Given the description of an element on the screen output the (x, y) to click on. 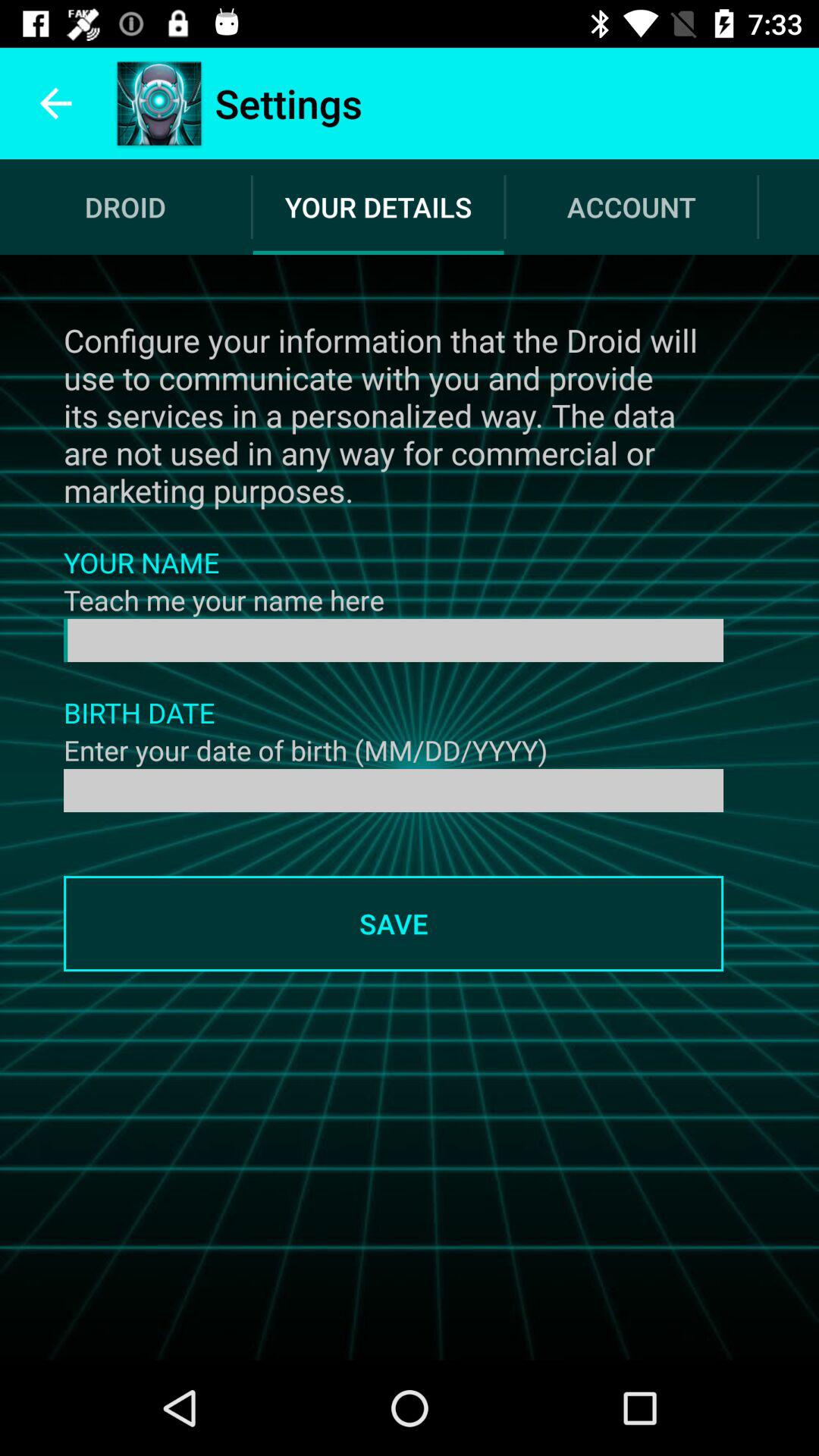
enter your name (393, 640)
